Given the description of an element on the screen output the (x, y) to click on. 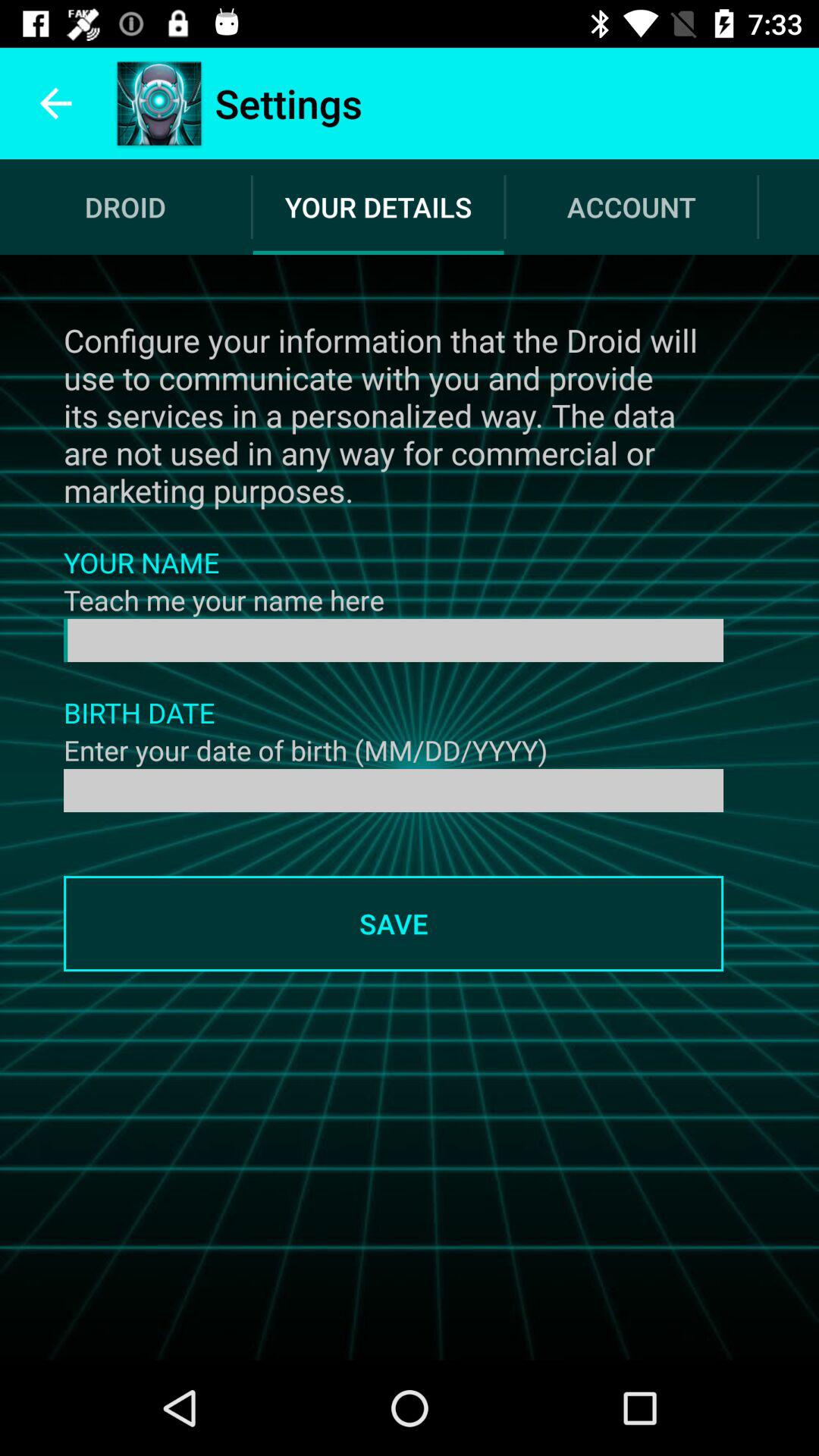
enter your name (393, 640)
